Given the description of an element on the screen output the (x, y) to click on. 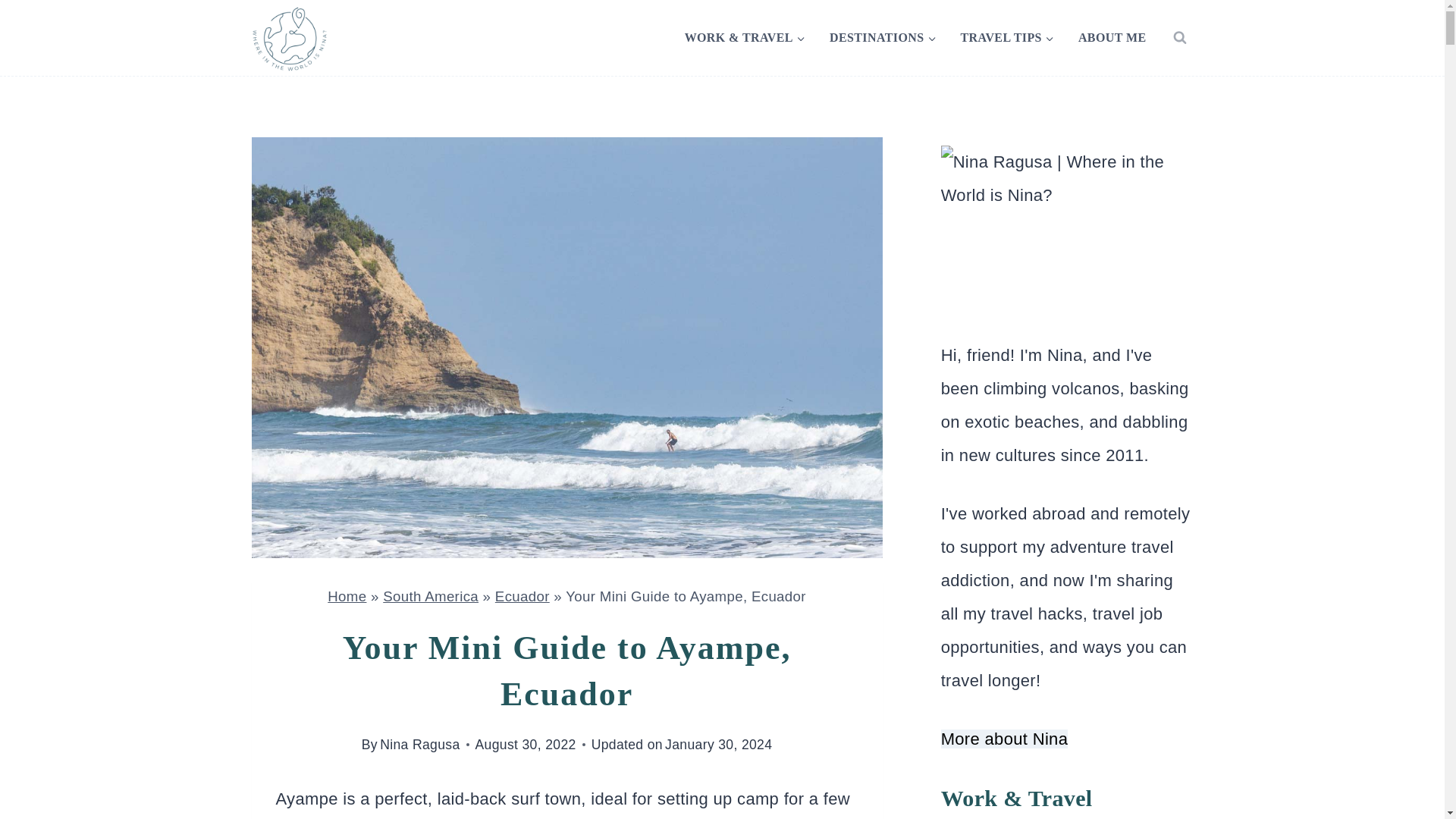
Home (346, 596)
Ecuador (522, 596)
ABOUT ME (1111, 37)
Nina Ragusa (420, 744)
TRAVEL TIPS (1006, 37)
DESTINATIONS (882, 37)
South America (430, 596)
